Given the description of an element on the screen output the (x, y) to click on. 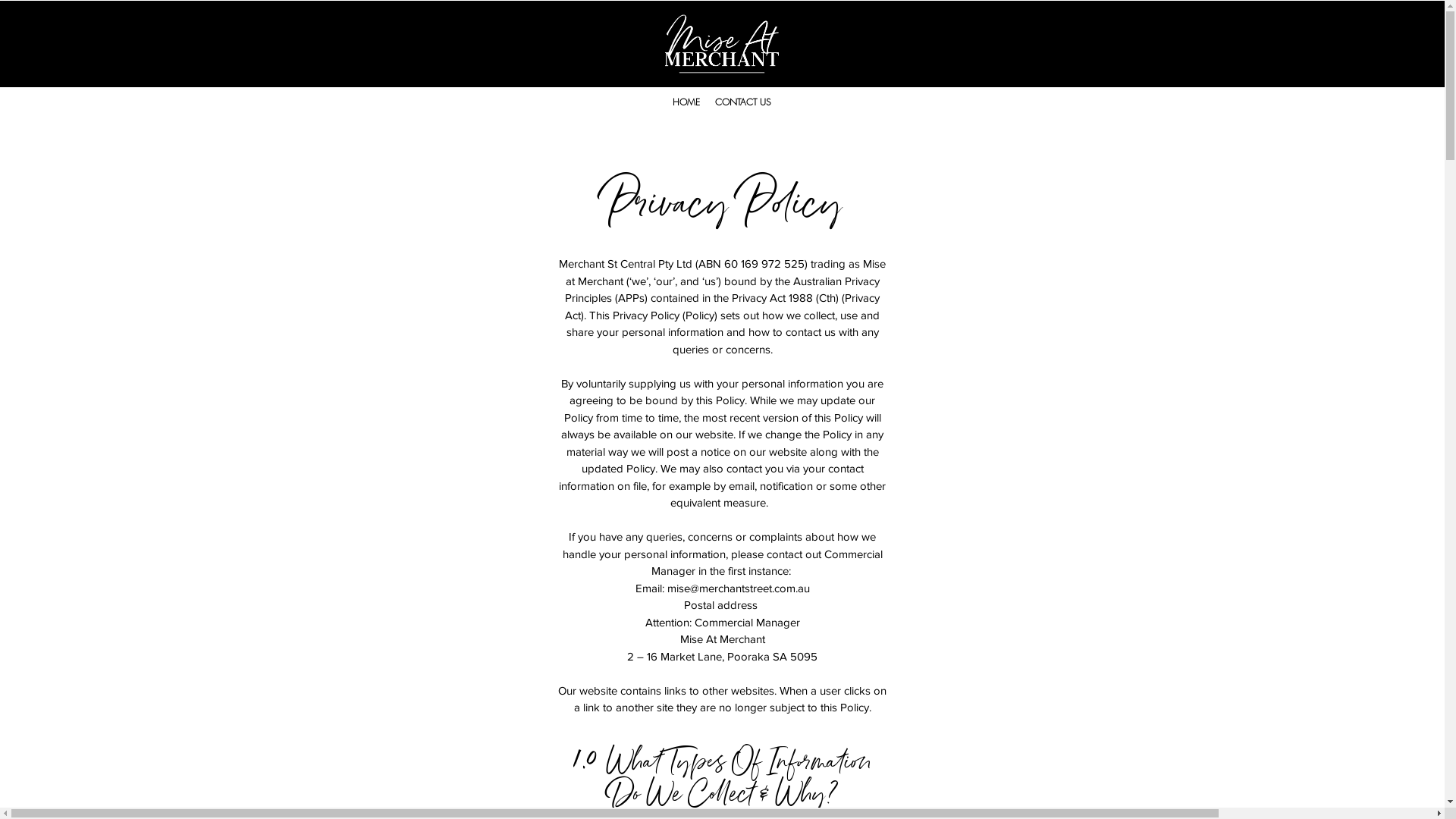
HOME Element type: text (685, 102)
TheNativeCo_Reverse_Outlines.png Element type: hover (721, 43)
CONTACT US Element type: text (742, 102)
mise@merchantstreet.com.au Element type: text (738, 587)
